Given the description of an element on the screen output the (x, y) to click on. 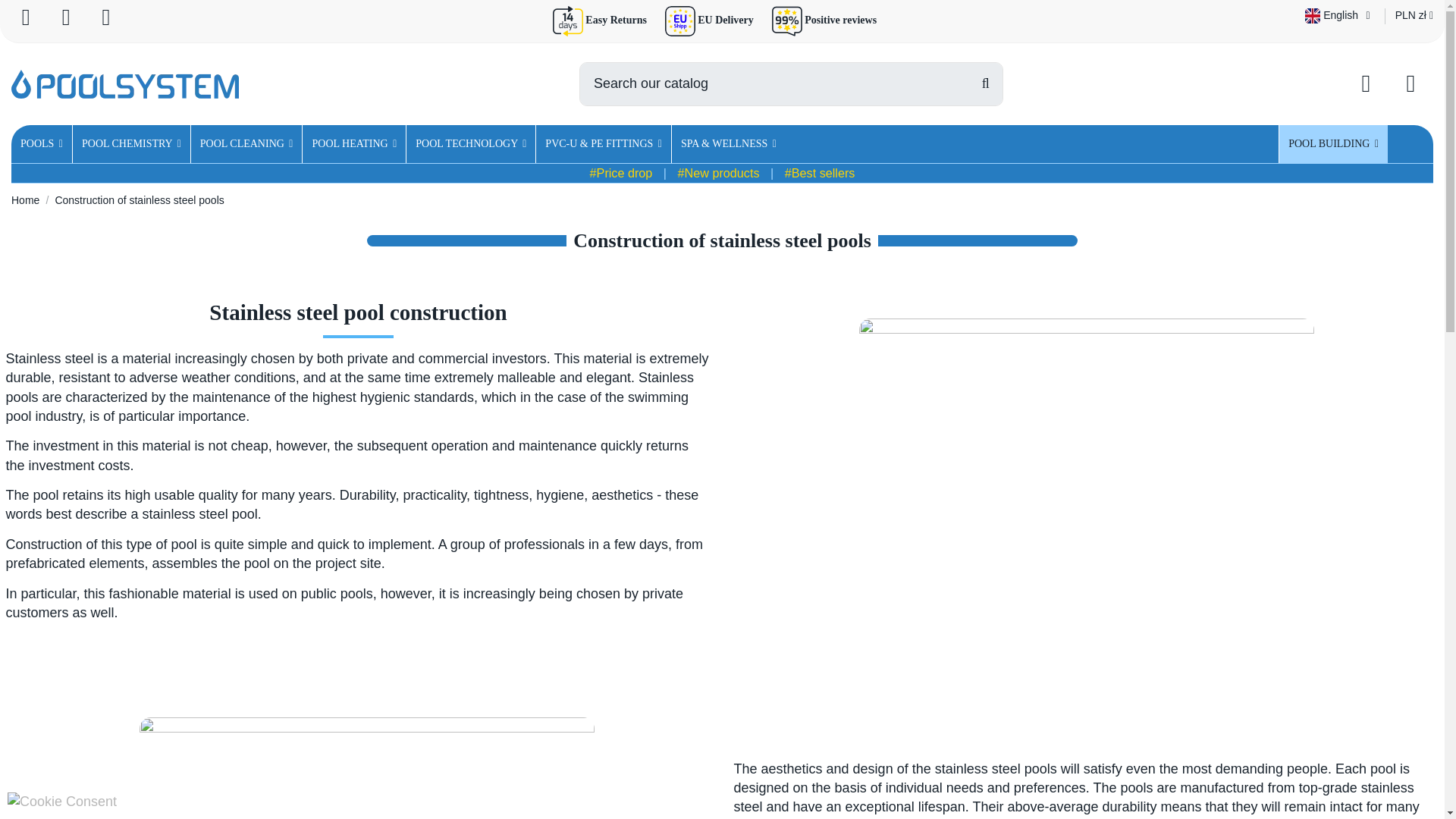
POOLS (41, 143)
EU Delivery (724, 19)
Positive reviews (839, 19)
Log in to your customer account (1366, 84)
Easy Returns (614, 19)
English (1339, 15)
